Given the description of an element on the screen output the (x, y) to click on. 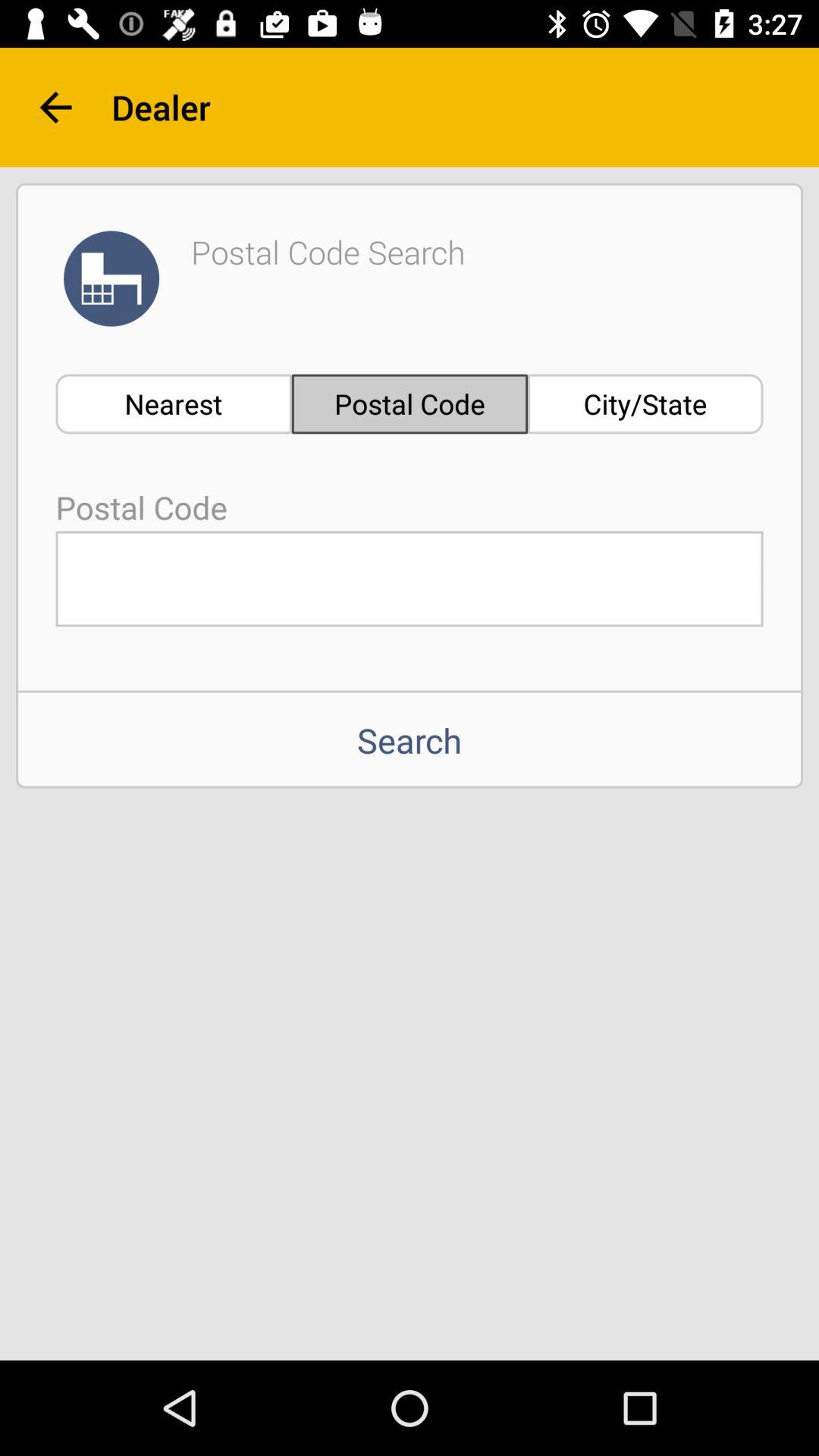
open item below dealer item (645, 403)
